Given the description of an element on the screen output the (x, y) to click on. 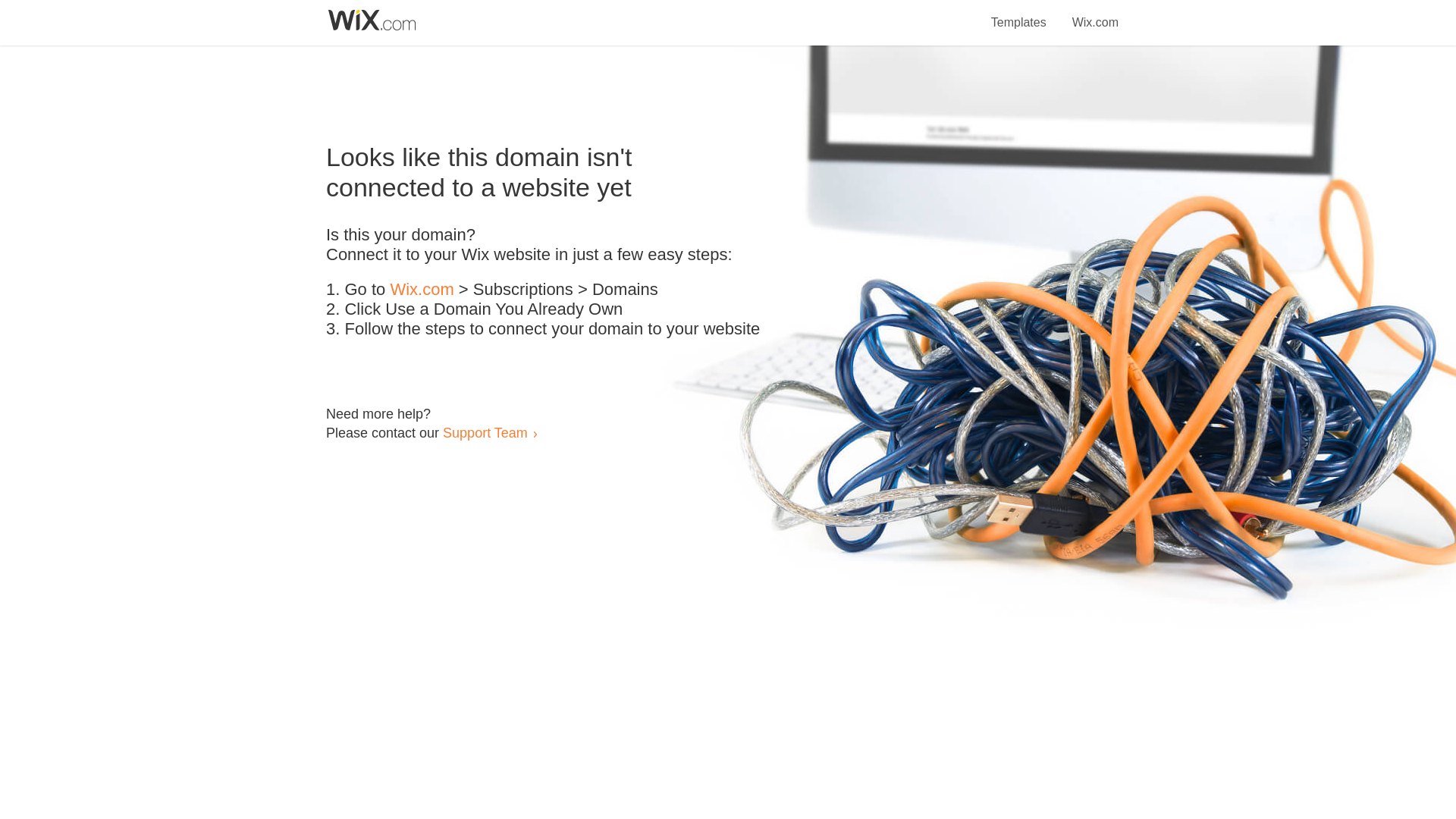
Wix.com (421, 289)
Wix.com (1095, 14)
Support Team (484, 432)
Templates (1018, 14)
